Given the description of an element on the screen output the (x, y) to click on. 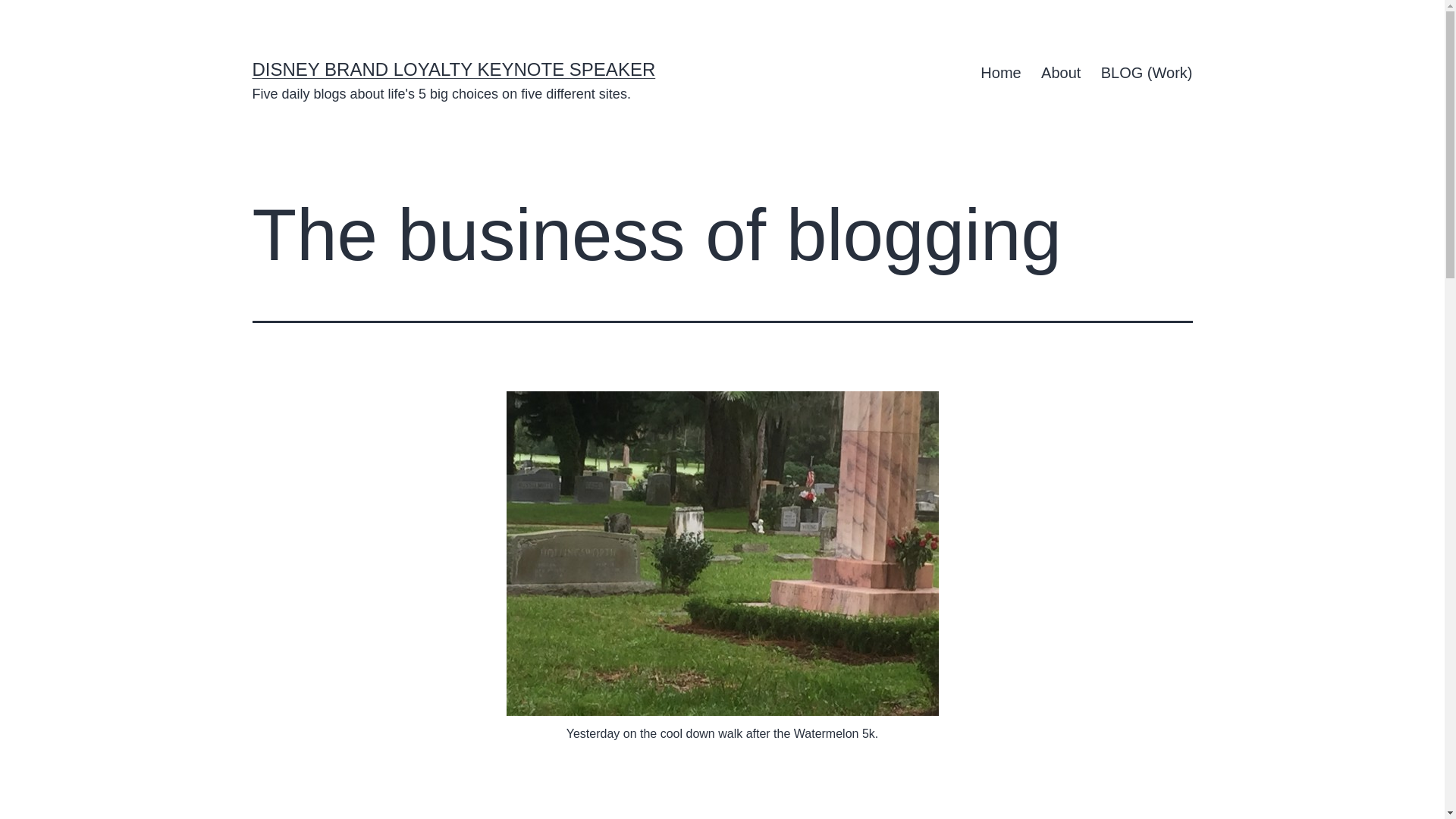
About (1060, 72)
DISNEY BRAND LOYALTY KEYNOTE SPEAKER (453, 68)
Home (1000, 72)
